Given the description of an element on the screen output the (x, y) to click on. 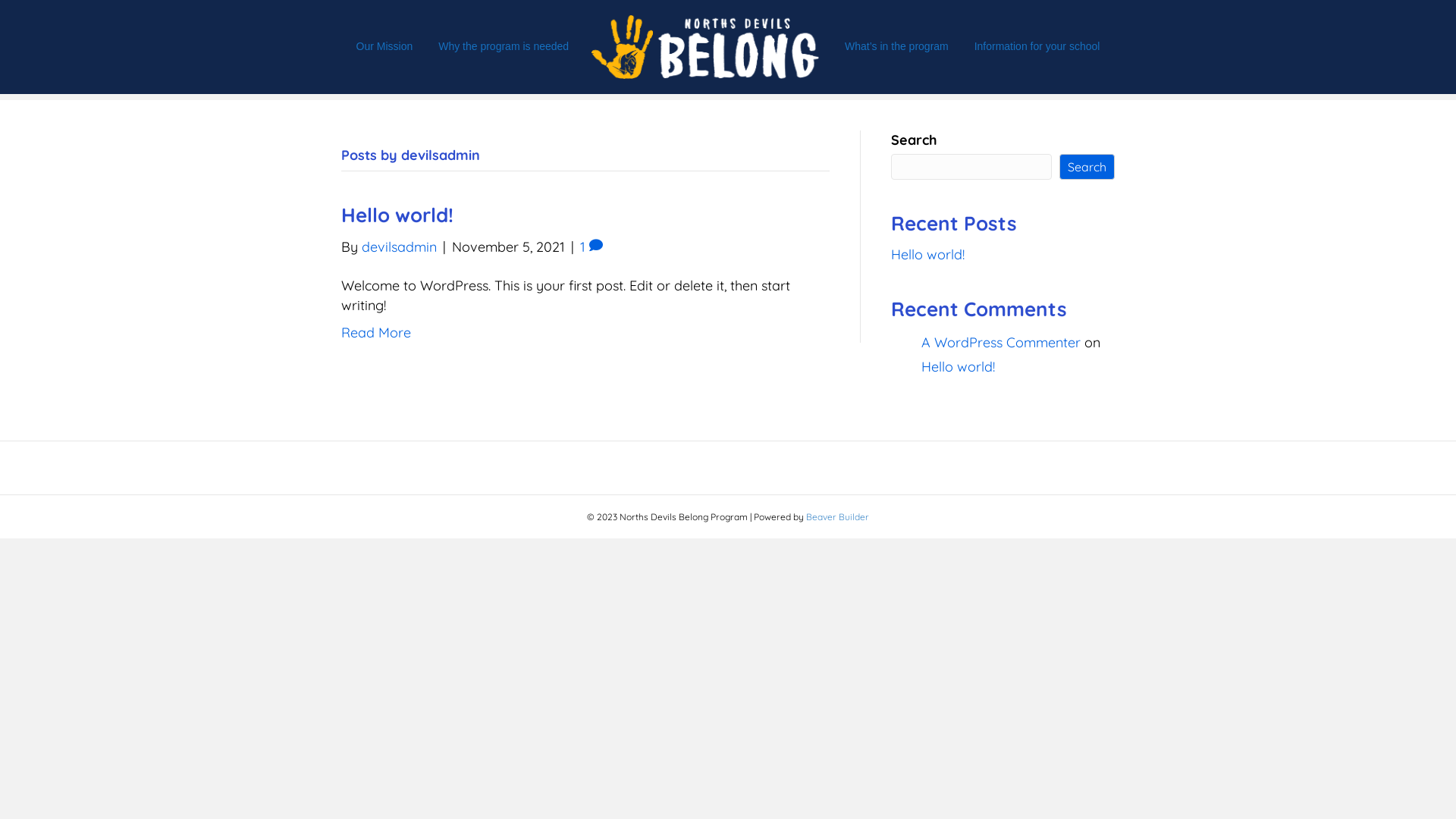
devilsadmin Element type: text (398, 246)
Hello world! Element type: text (927, 254)
Hello world! Element type: text (957, 366)
A WordPress Commenter Element type: text (1000, 342)
Information for your school Element type: text (1037, 46)
Read More Element type: text (376, 332)
Search Element type: text (1086, 166)
Hello world! Element type: text (397, 214)
1 Element type: text (591, 246)
Why the program is needed Element type: text (503, 46)
Beaver Builder Element type: text (837, 516)
Our Mission Element type: text (384, 46)
